Given the description of an element on the screen output the (x, y) to click on. 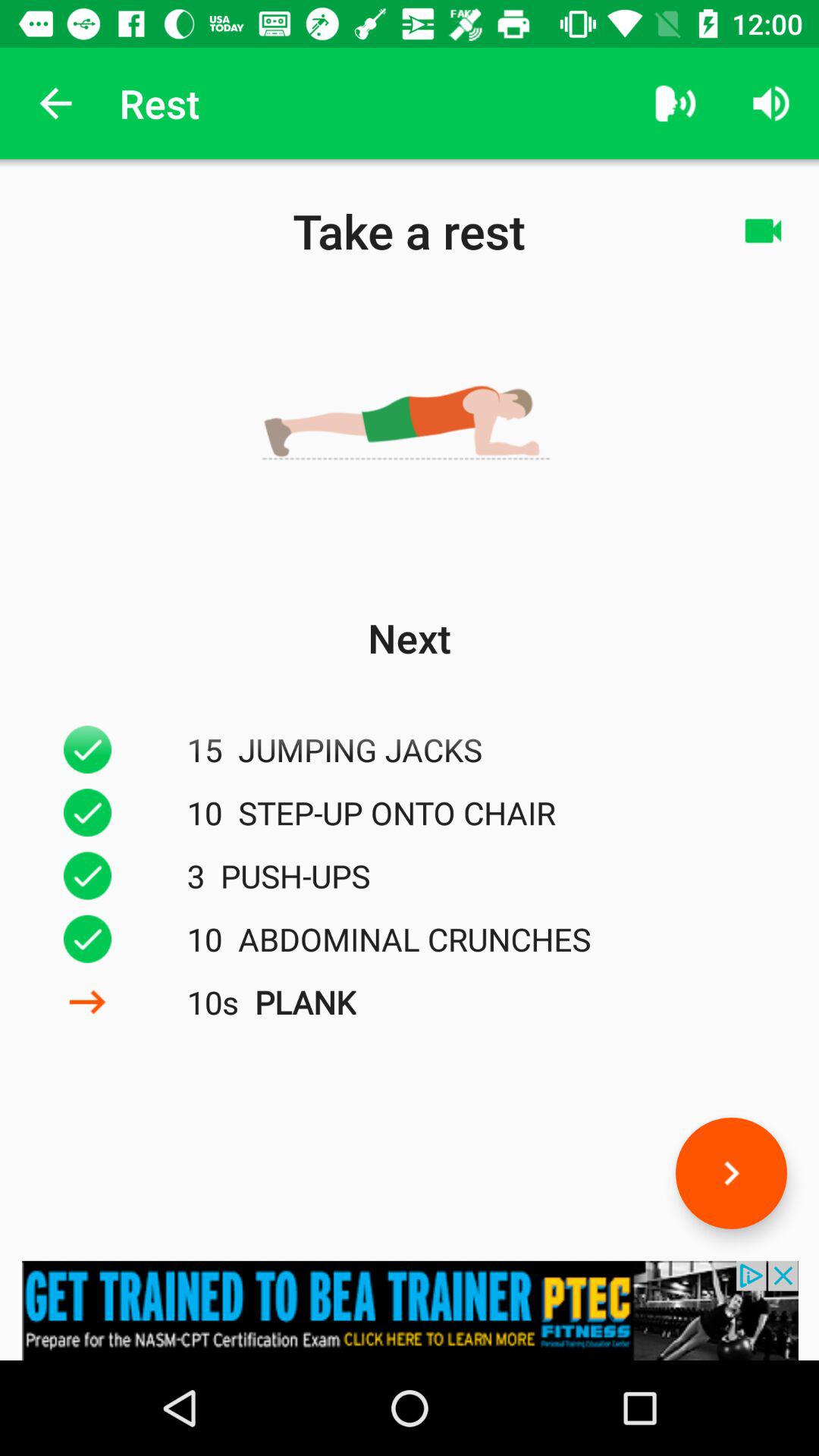
advertisement page (409, 1310)
